Given the description of an element on the screen output the (x, y) to click on. 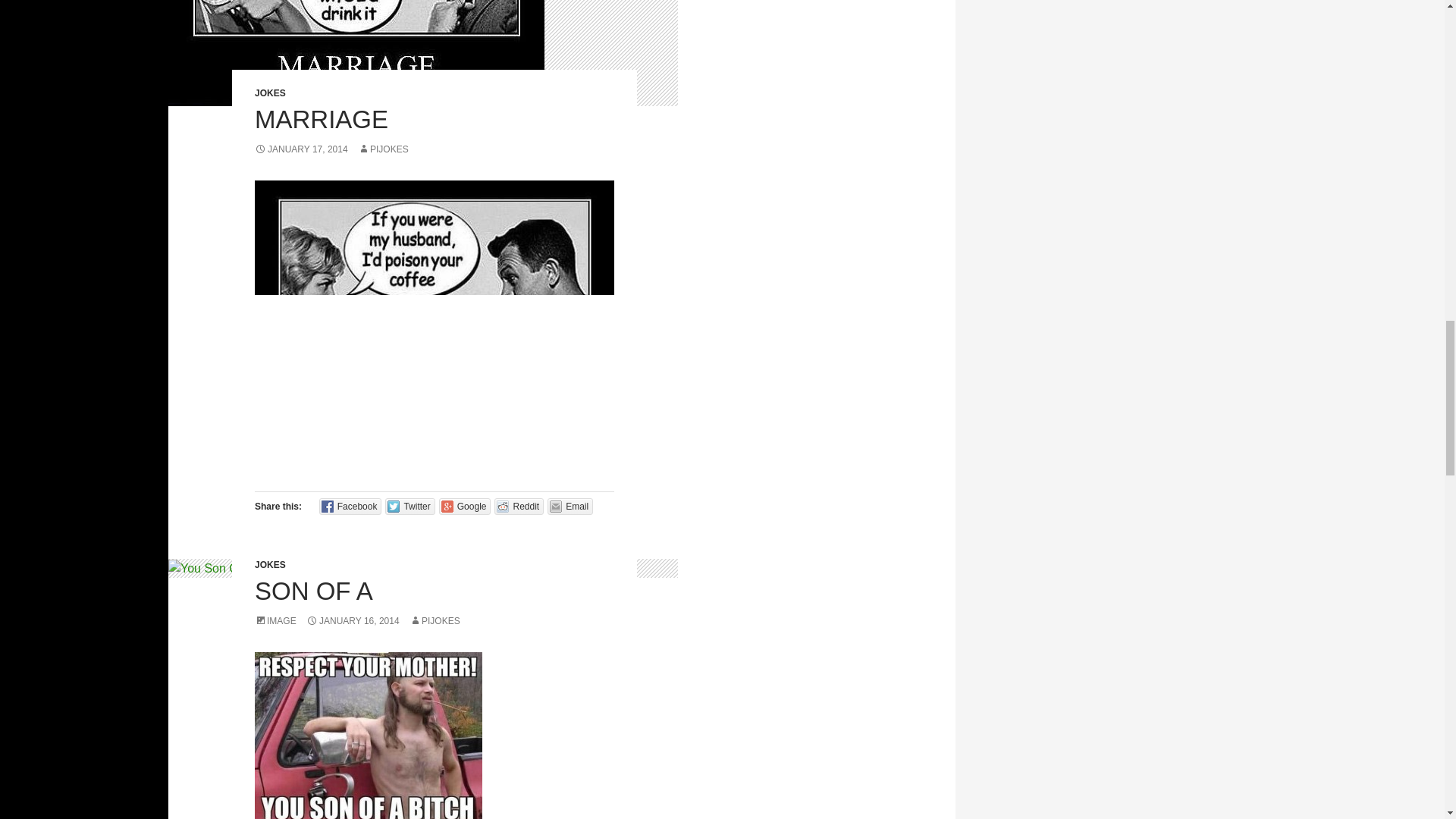
Facebook (349, 506)
Click to share on Twitter (409, 506)
View all posts in Jokes (269, 92)
Reddit (519, 506)
Email (569, 506)
JANUARY 17, 2014 (300, 149)
Google (465, 506)
MARRIAGE (321, 119)
Twitter (409, 506)
Share on Facebook (349, 506)
